Given the description of an element on the screen output the (x, y) to click on. 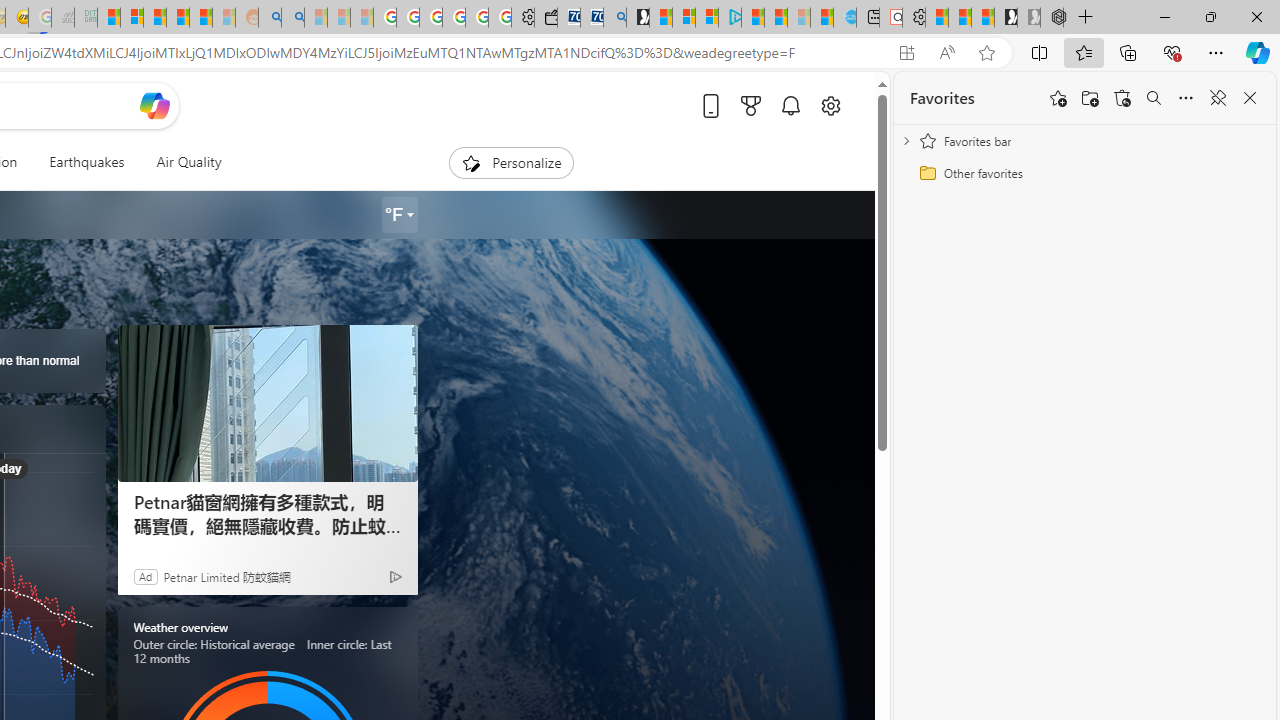
Utah sues federal government - Search (292, 17)
Earthquakes (86, 162)
App available. Install Microsoft Start Weather (906, 53)
